Given the description of an element on the screen output the (x, y) to click on. 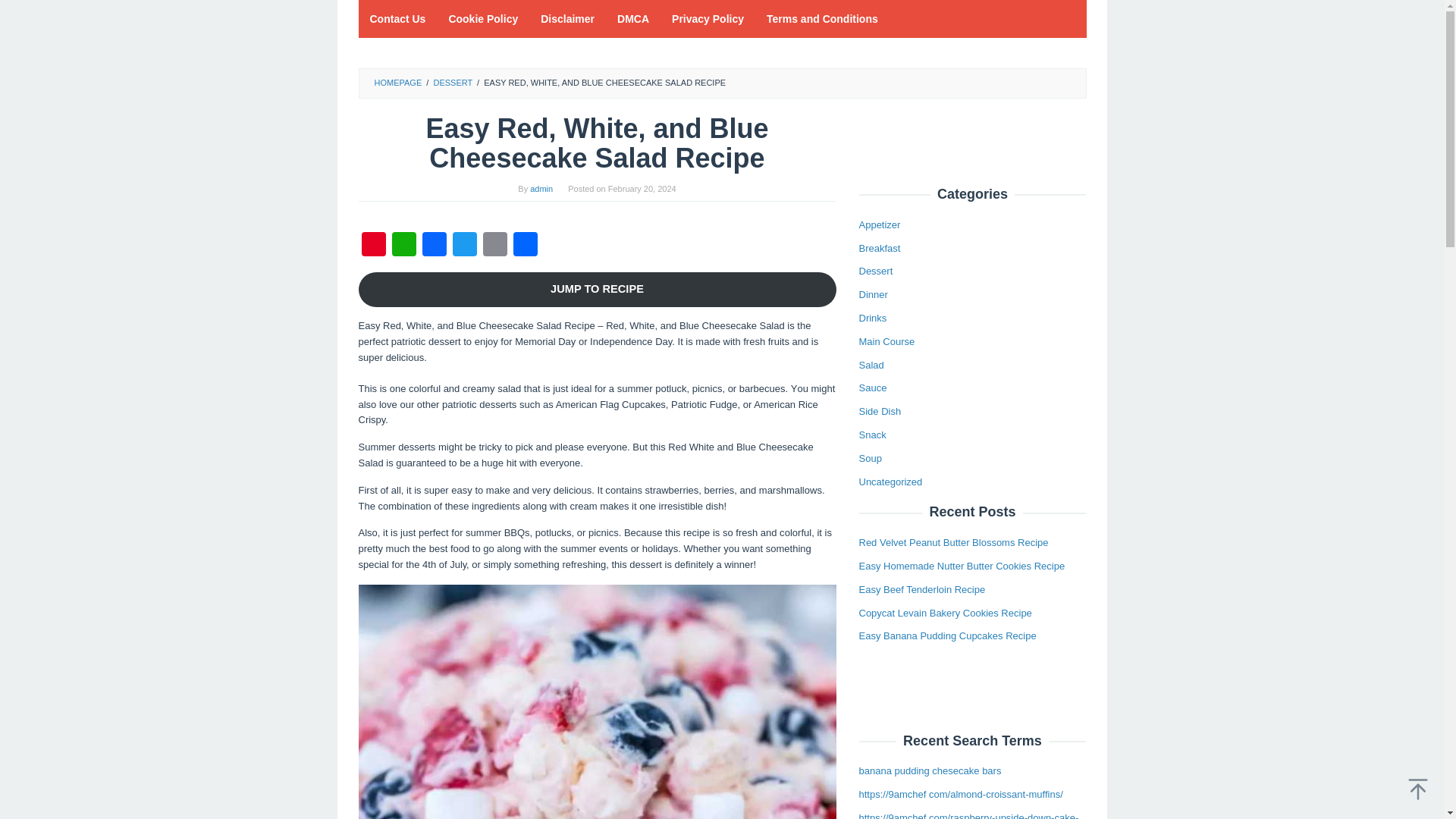
WhatsApp (403, 245)
Email (494, 245)
DMCA (633, 18)
Permalink to: admin (541, 188)
Contact Us (397, 18)
admin (541, 188)
Cookie Policy (482, 18)
Twitter (463, 245)
DESSERT (451, 81)
Share (524, 245)
Facebook (433, 245)
Privacy Policy (708, 18)
Pinterest (373, 245)
WhatsApp (403, 245)
HOMEPAGE (398, 81)
